Given the description of an element on the screen output the (x, y) to click on. 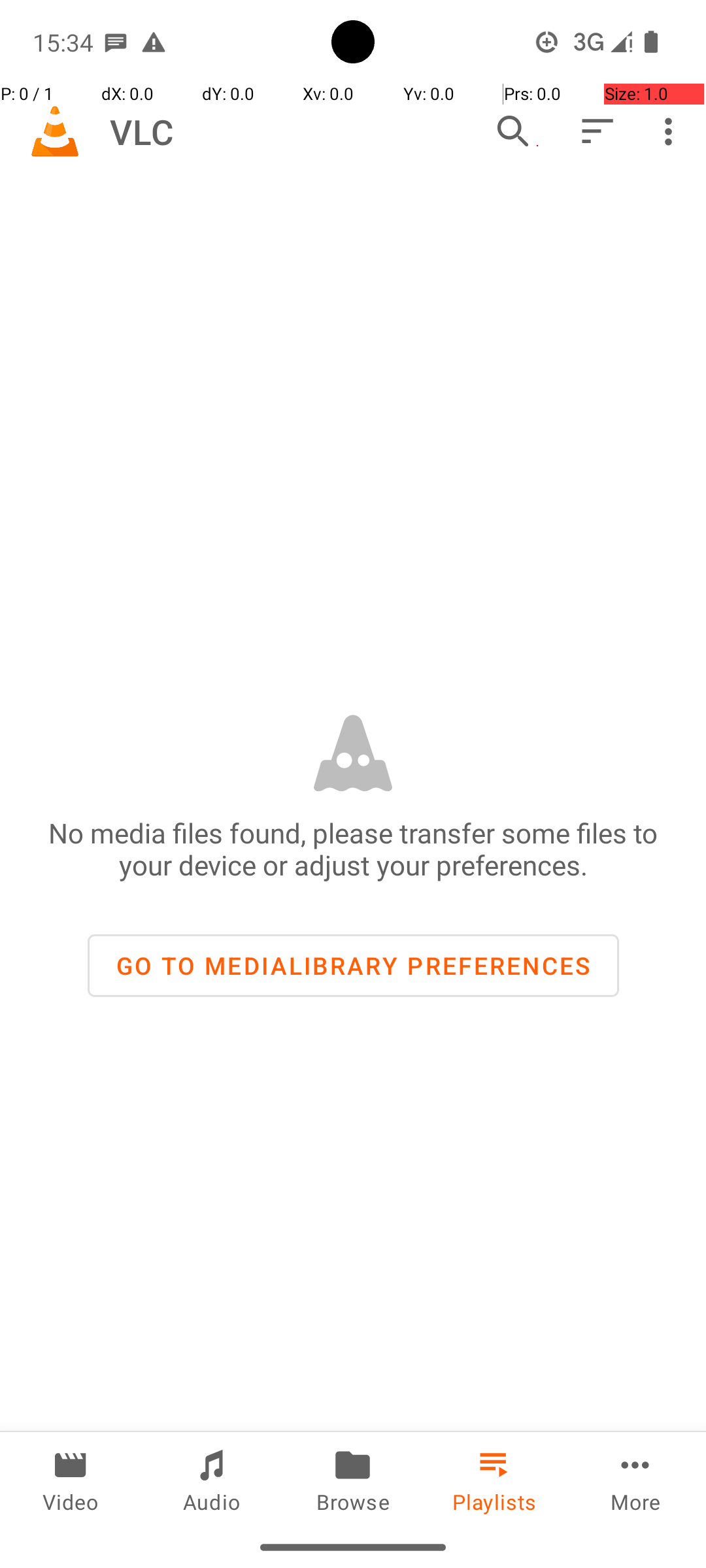
Sort by… Element type: android.widget.TextView (595, 131)
No media files found, please transfer some files to your device or adjust your preferences. Element type: android.widget.TextView (352, 848)
GO TO MEDIALIBRARY PREFERENCES Element type: android.widget.Button (353, 965)
Video Element type: android.widget.FrameLayout (70, 1478)
Browse Element type: android.widget.FrameLayout (352, 1478)
Playlists Element type: android.widget.FrameLayout (493, 1478)
